Given the description of an element on the screen output the (x, y) to click on. 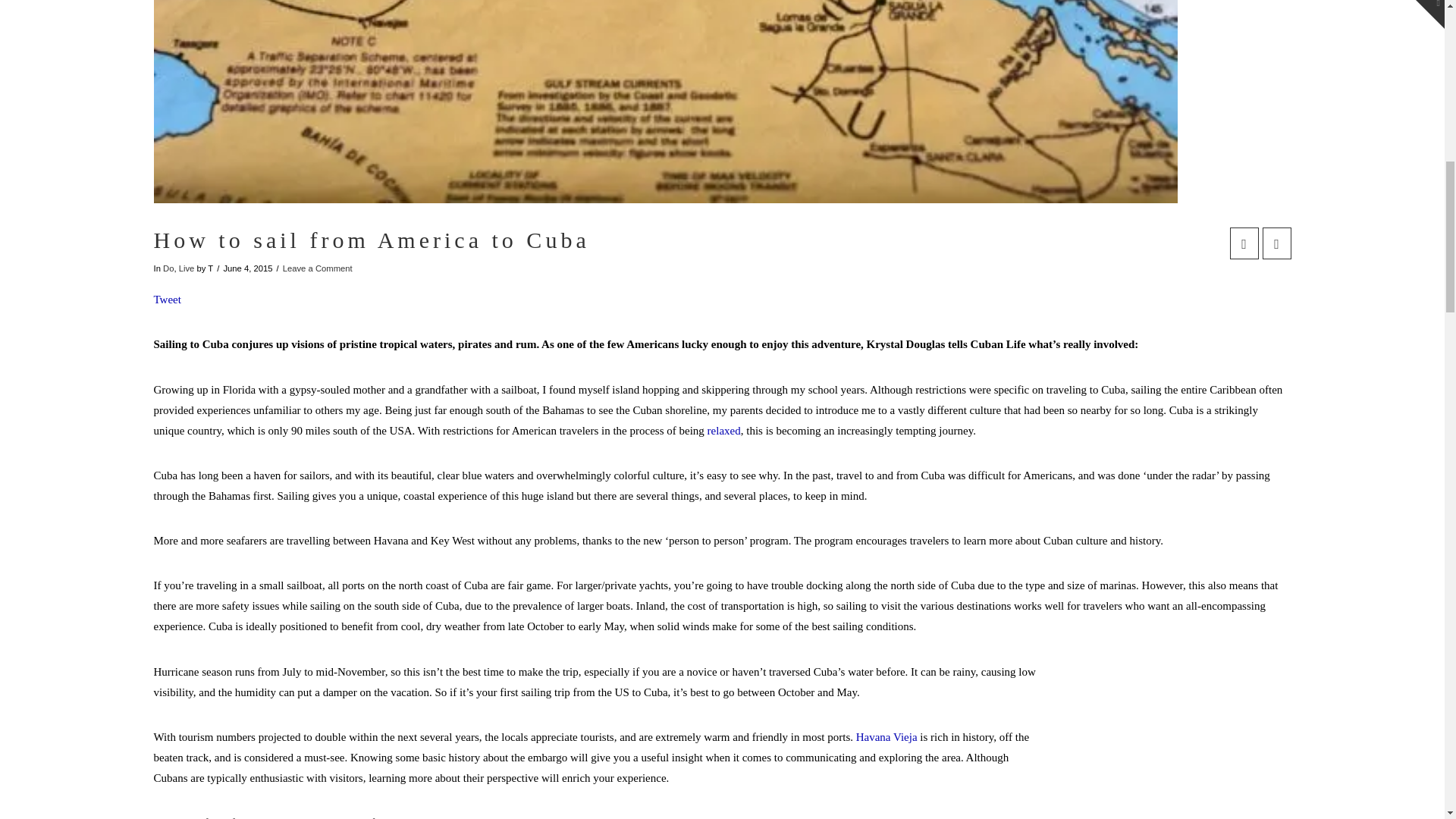
Tweet (166, 299)
Live (187, 267)
Havana Vieja (886, 736)
Leave a Comment (317, 267)
Do (168, 267)
relaxed (724, 430)
